Given the description of an element on the screen output the (x, y) to click on. 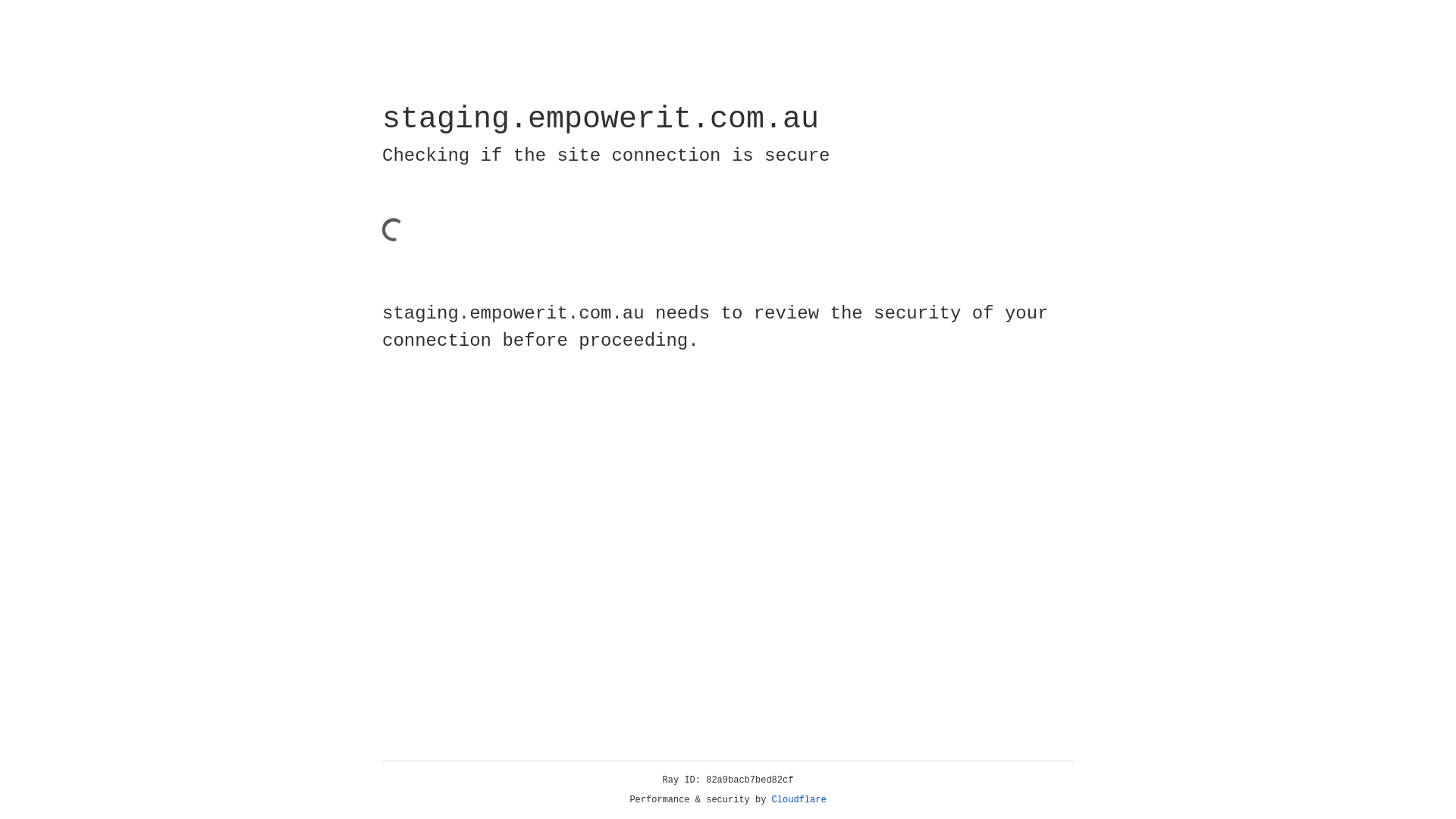
Cloudflare Element type: text (798, 799)
